Given the description of an element on the screen output the (x, y) to click on. 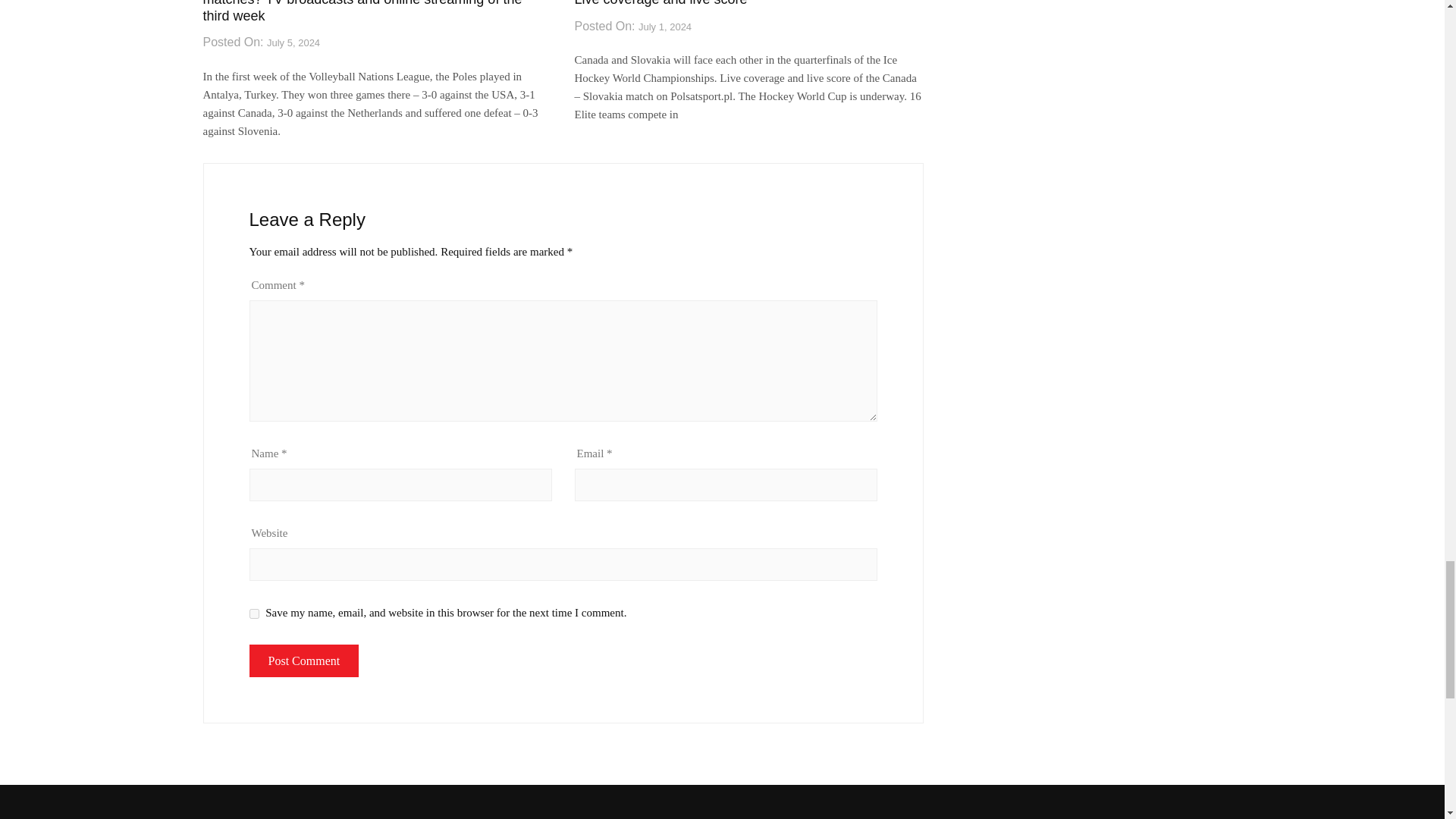
Post Comment (303, 661)
yes (253, 614)
